Given the description of an element on the screen output the (x, y) to click on. 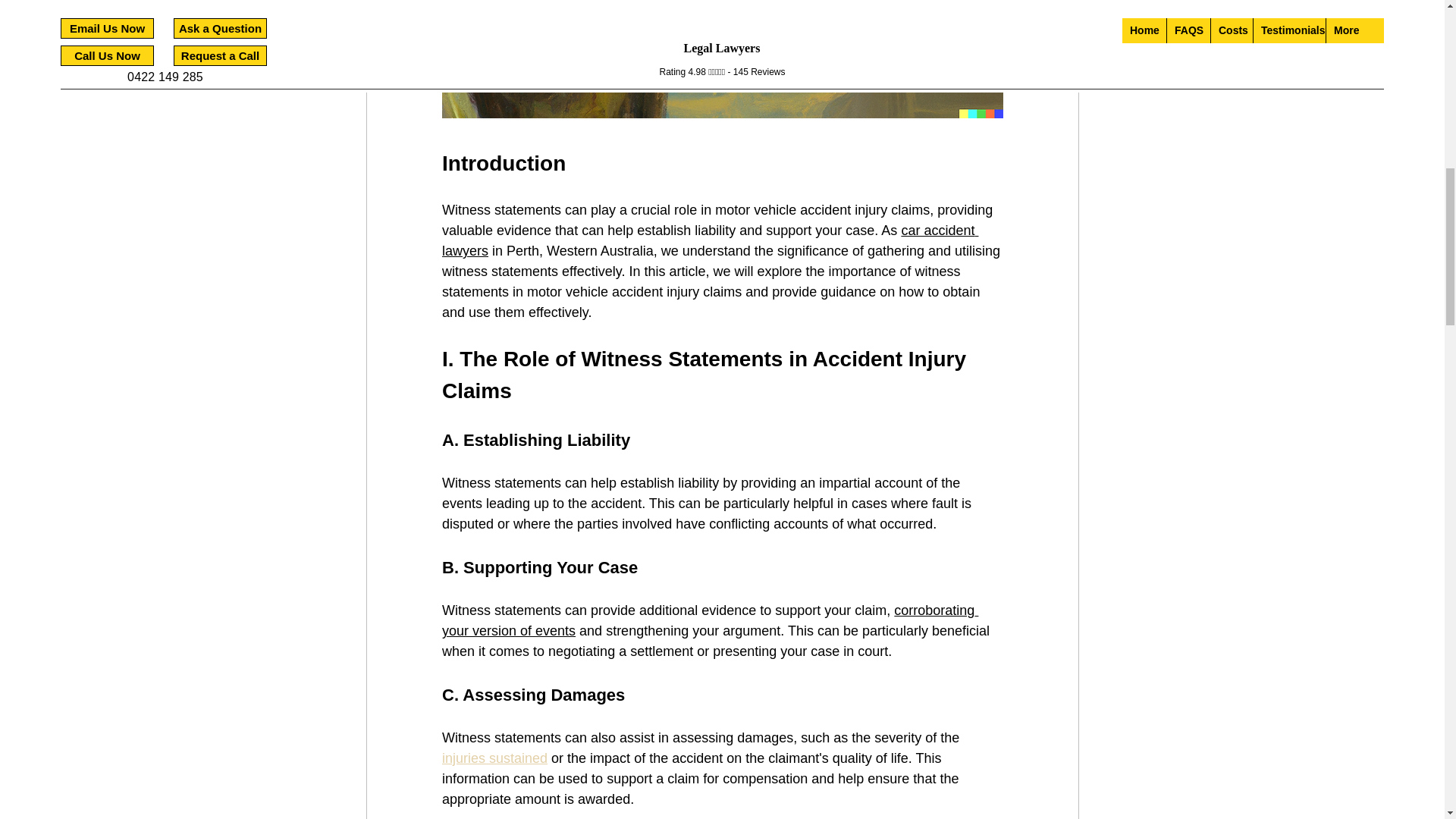
injuries sustained (494, 758)
corroborating your version of events (708, 620)
car accident lawyers (708, 240)
